Given the description of an element on the screen output the (x, y) to click on. 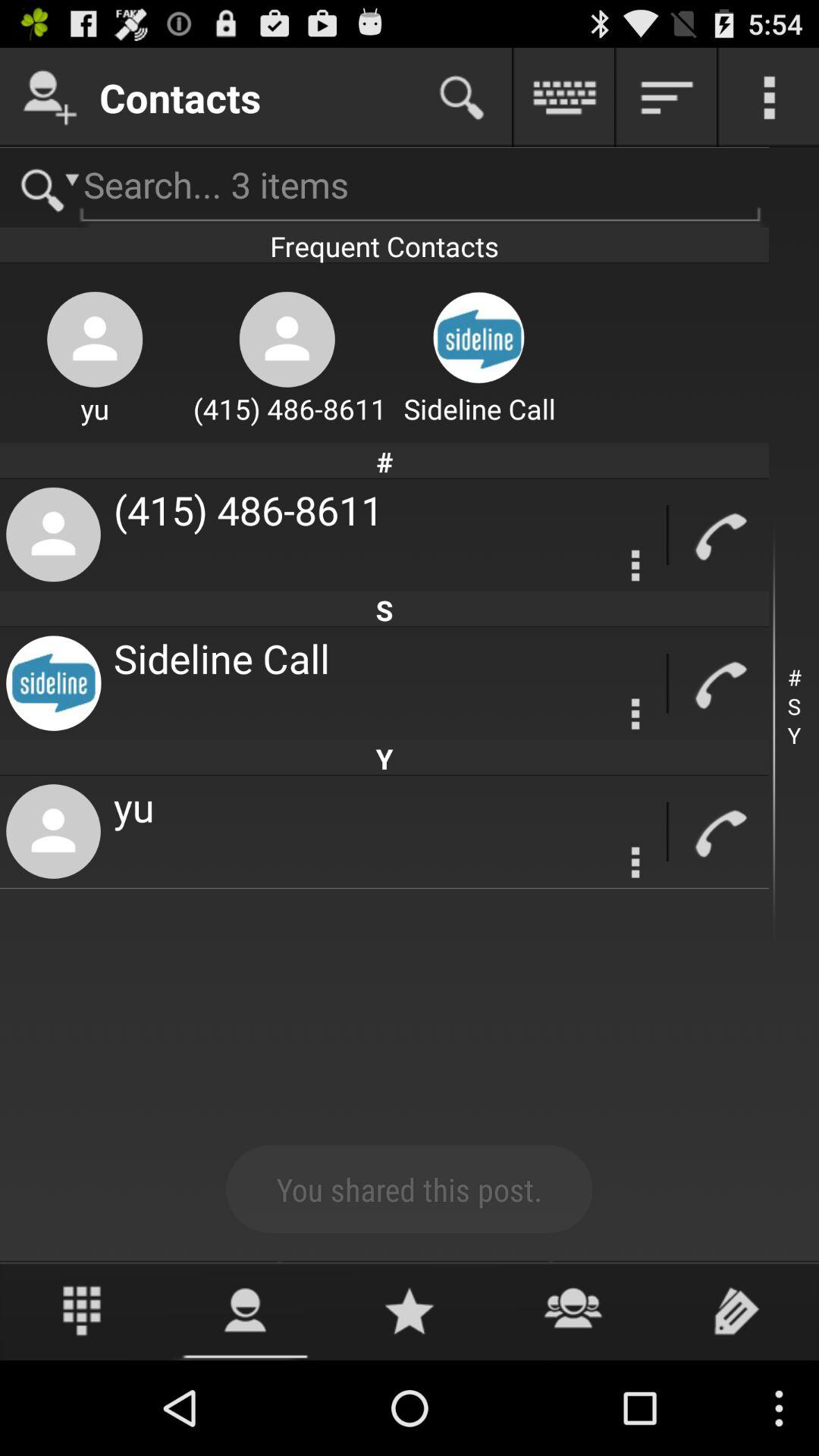
show more (769, 97)
